Given the description of an element on the screen output the (x, y) to click on. 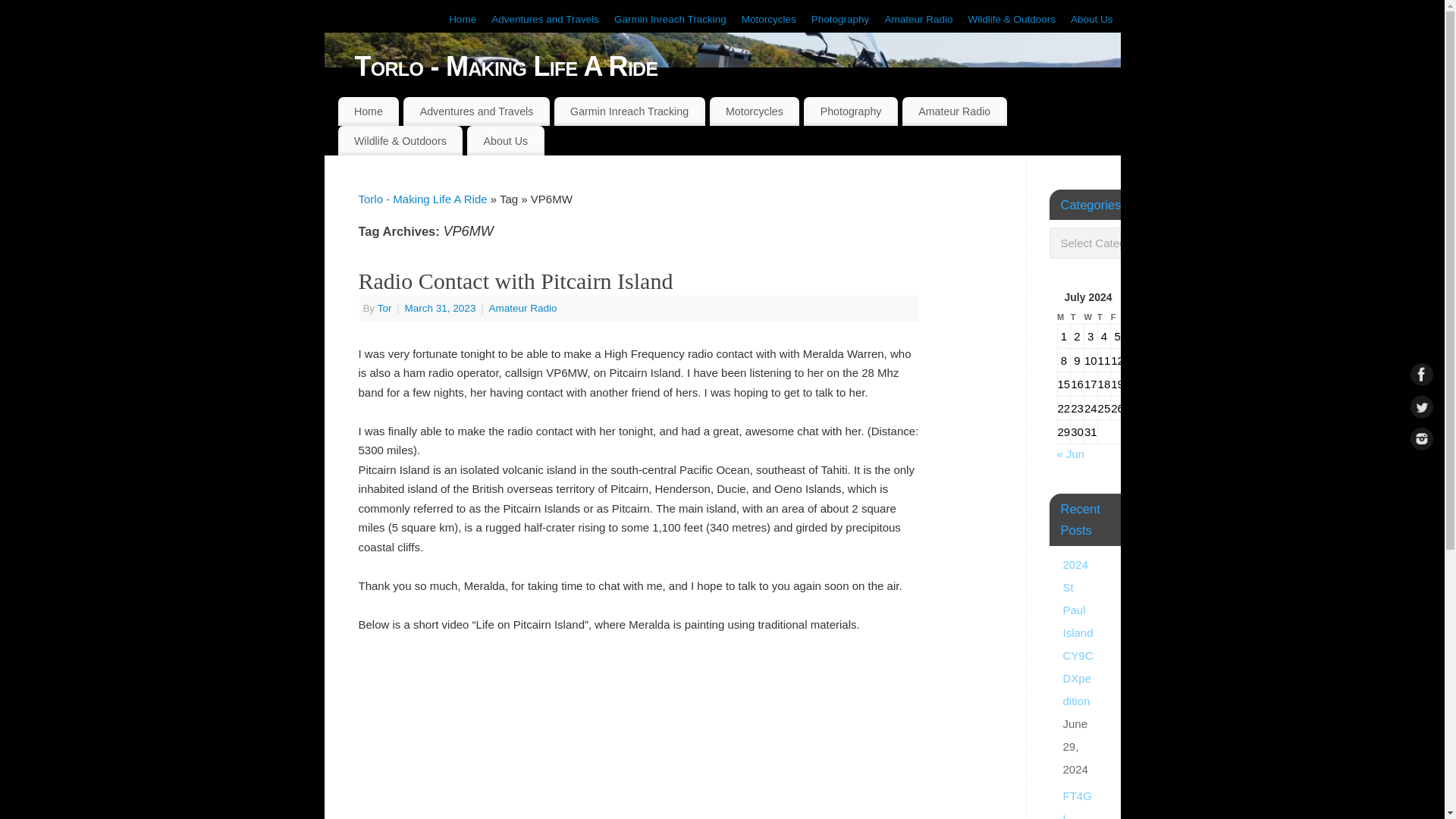
About Us (1091, 19)
YouTube player (638, 736)
Amateur Radio (917, 19)
Thursday (1103, 317)
Tuesday (1077, 317)
Garmin Inreach Tracking (670, 19)
Motorcycles (768, 19)
Amateur Radio (954, 111)
Radio Contact with Pitcairn Island (515, 280)
Friday (1117, 317)
Garmin Inreach Tracking (629, 111)
Photography (850, 111)
Adventures and Travels (545, 19)
About Us (505, 140)
Home (462, 19)
